Given the description of an element on the screen output the (x, y) to click on. 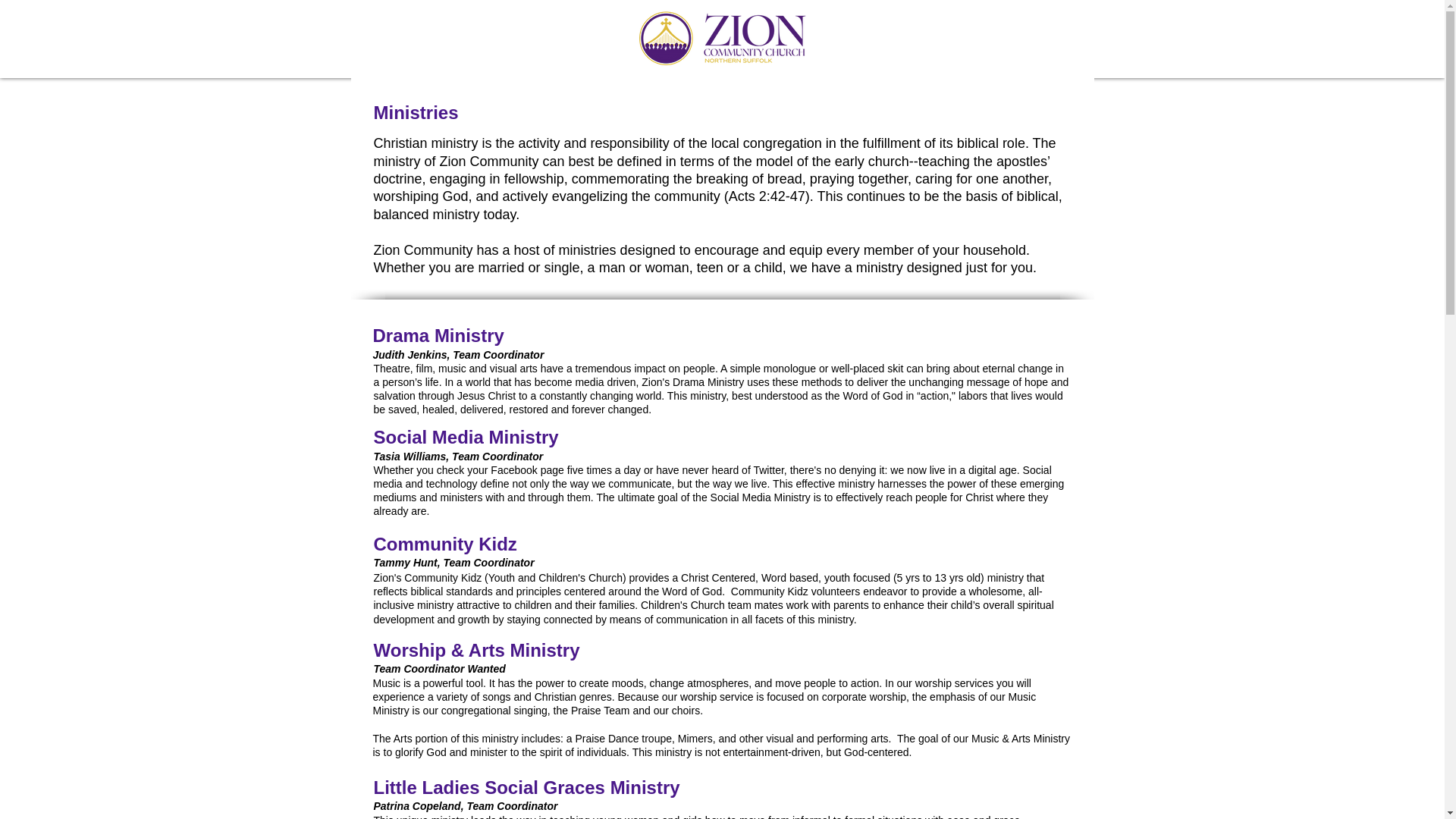
Social Media Ministry (464, 436)
Tasia Williams, Team Coordinator (457, 456)
